Given the description of an element on the screen output the (x, y) to click on. 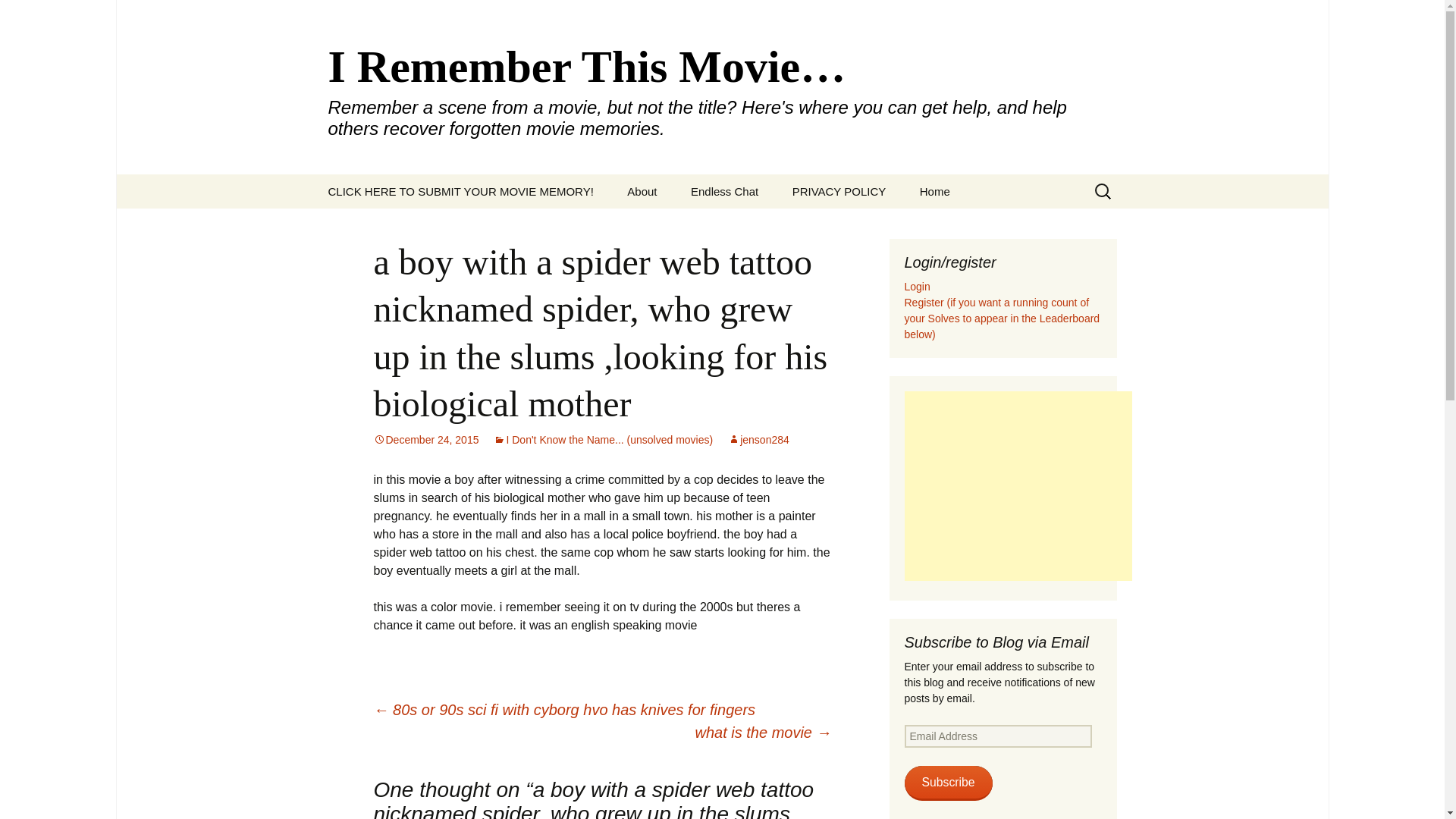
CLICK HERE TO SUBMIT YOUR MOVIE MEMORY! (460, 191)
December 24, 2015 (425, 439)
View all posts by jenson284 (758, 439)
Home (934, 191)
Login (917, 286)
Endless Chat (724, 191)
About (641, 191)
Search (18, 15)
jenson284 (758, 439)
Subscribe (947, 782)
PRIVACY POLICY (839, 191)
Advertisement (1017, 485)
